Given the description of an element on the screen output the (x, y) to click on. 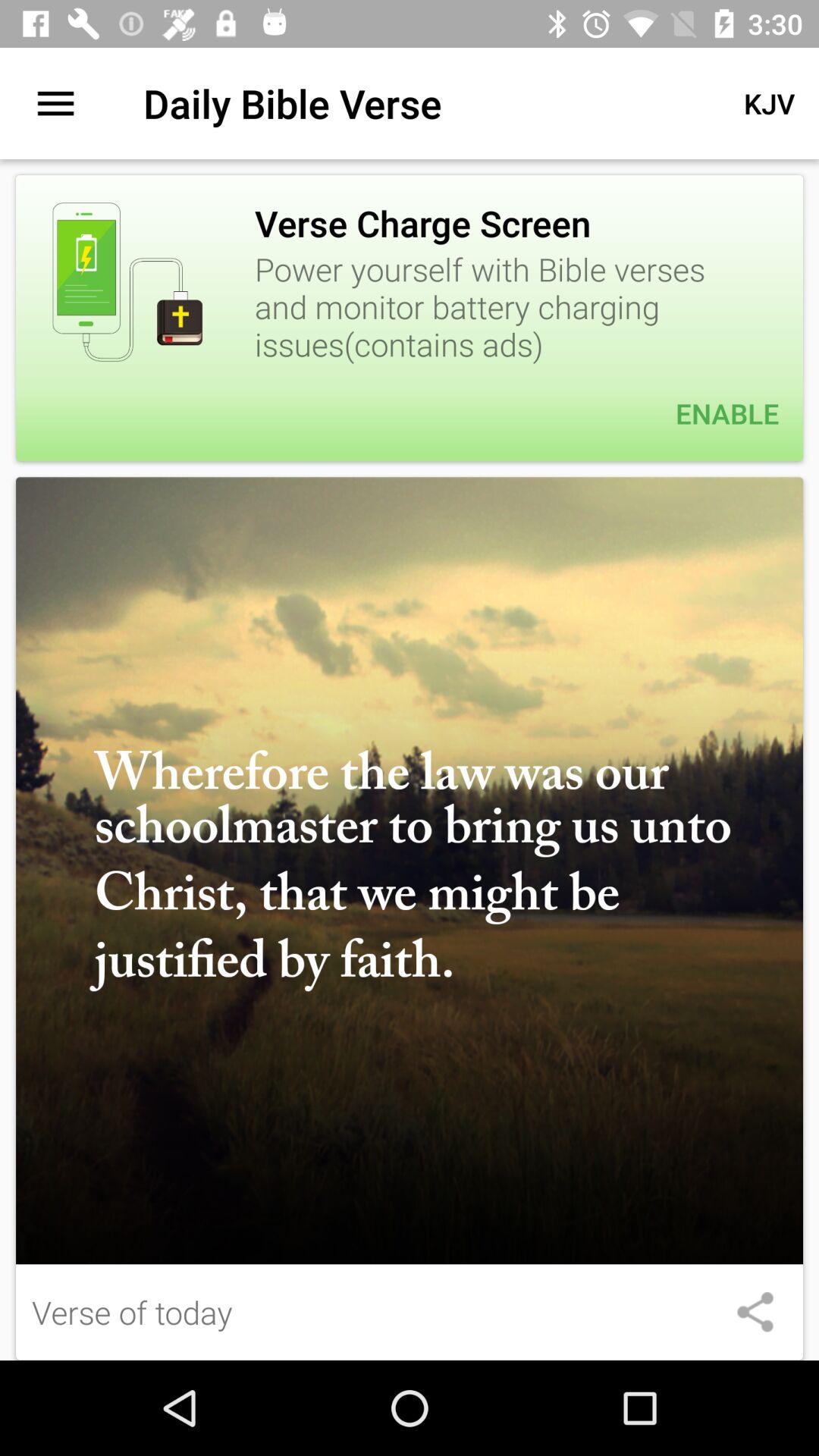
tap the item next to the verse of today item (755, 1311)
